Given the description of an element on the screen output the (x, y) to click on. 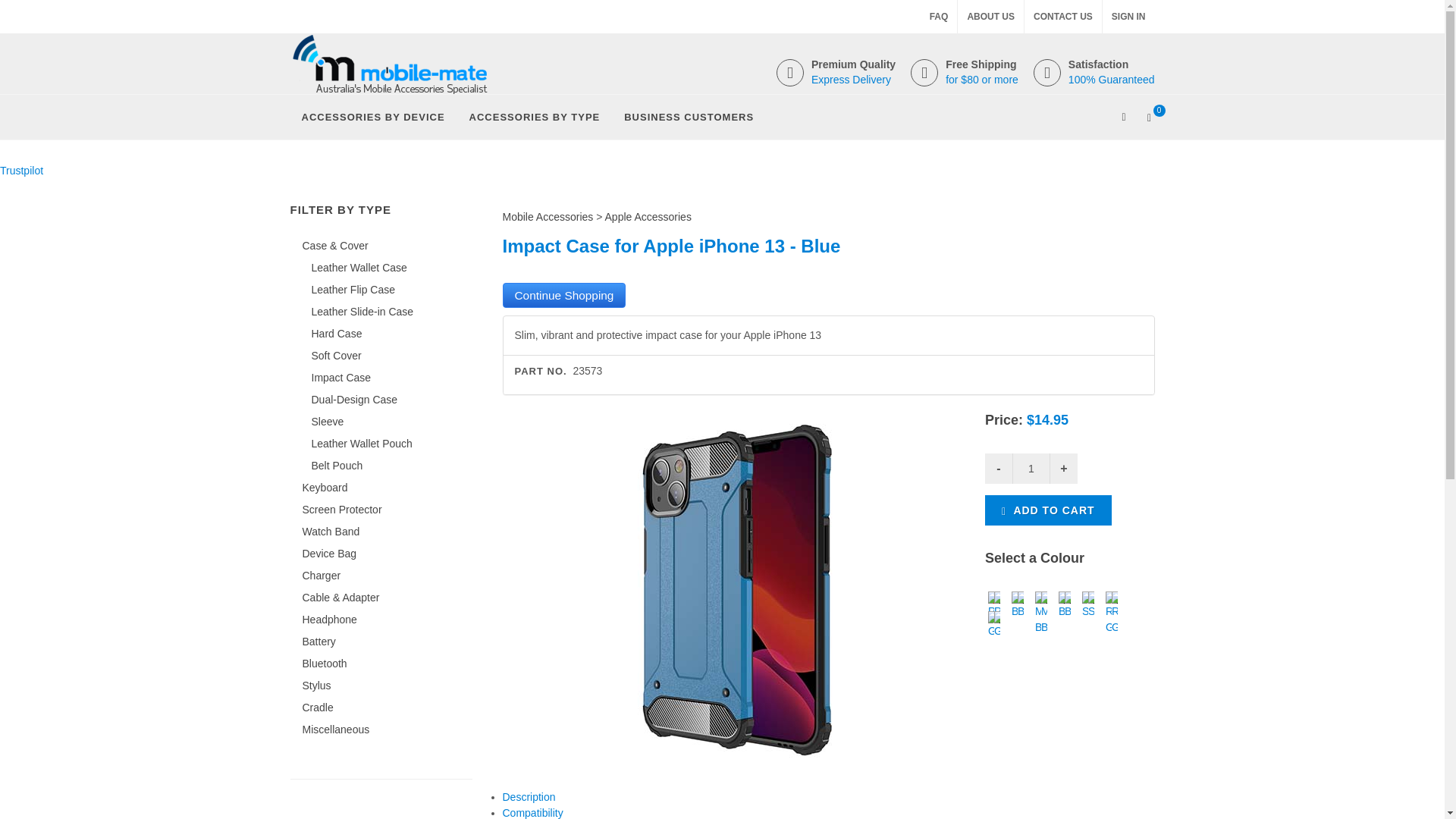
1 (1030, 468)
CONTACT US (1063, 16)
SIGN IN (1128, 16)
ABOUT US (990, 16)
- (998, 468)
ACCESSORIES BY DEVICE (372, 117)
Continue Shopping (564, 294)
FAQ (939, 16)
